Given the description of an element on the screen output the (x, y) to click on. 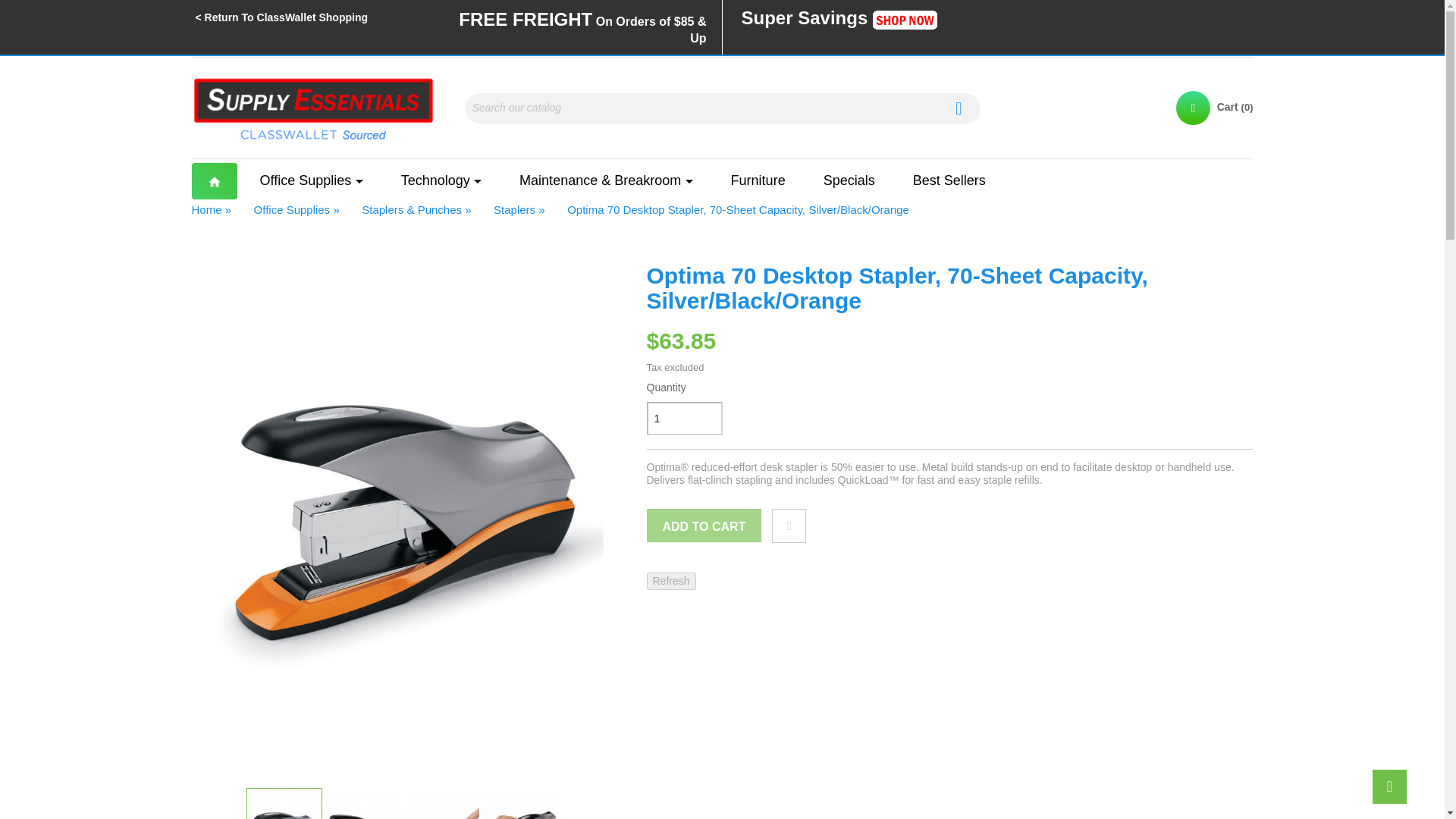
1 (684, 418)
Office Supplies (311, 180)
Home (215, 180)
Super Savings (836, 20)
Refresh (670, 581)
Add to Compare (788, 525)
Technology (440, 180)
